Given the description of an element on the screen output the (x, y) to click on. 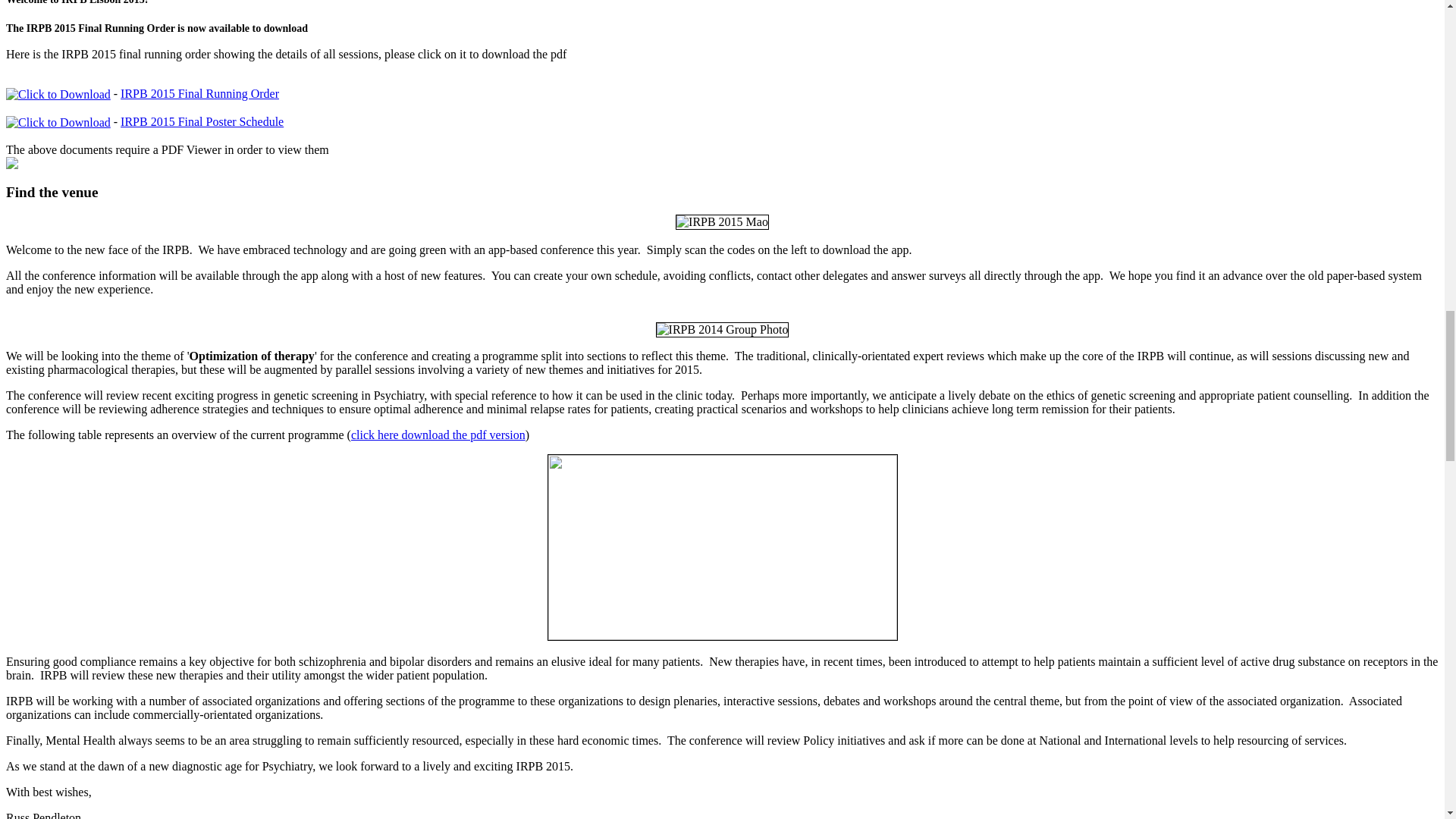
click here download the pdf version (437, 434)
IRPB 2015 Final Running Order (199, 92)
IRPB 2015 Final Poster Schedule (201, 121)
